Given the description of an element on the screen output the (x, y) to click on. 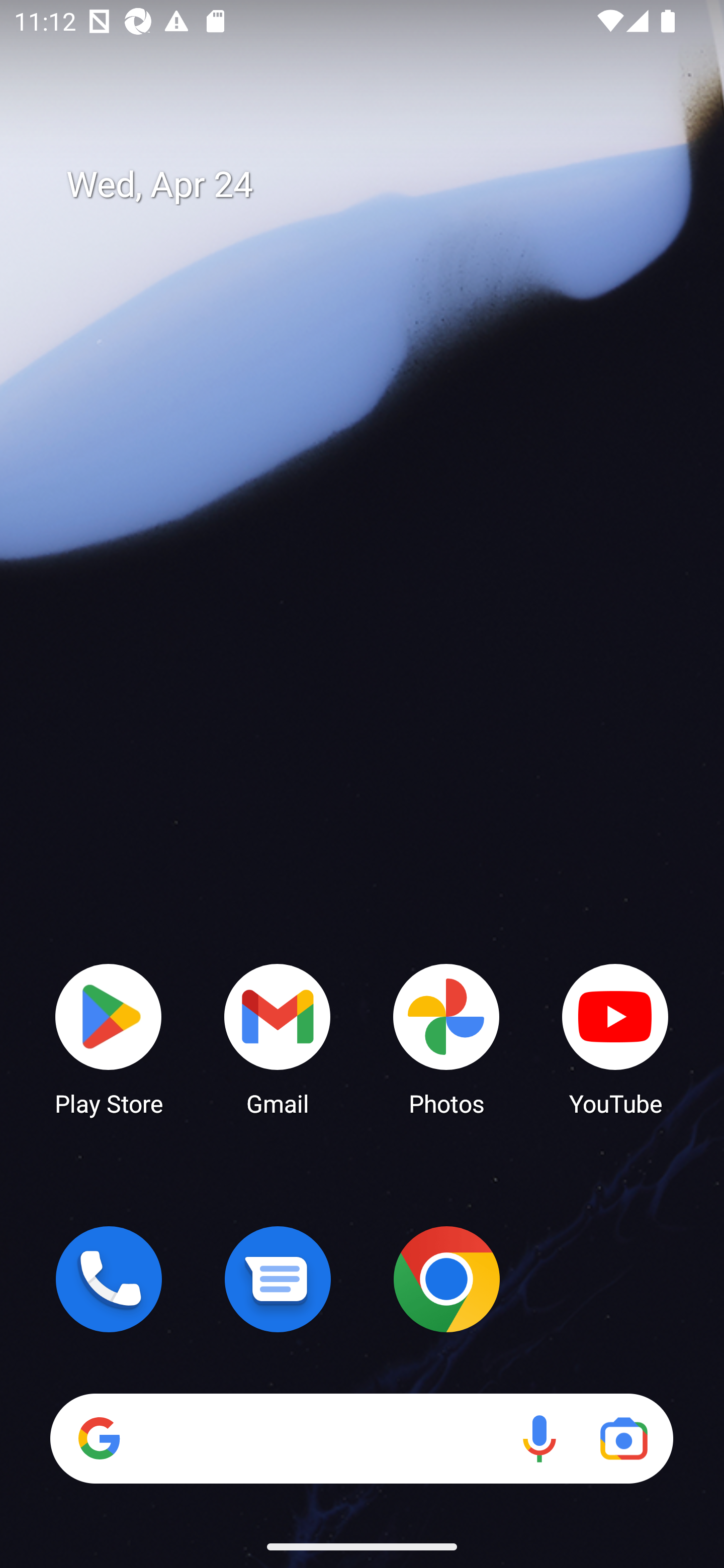
Wed, Apr 24 (375, 184)
Play Store (108, 1038)
Gmail (277, 1038)
Photos (445, 1038)
YouTube (615, 1038)
Phone (108, 1279)
Messages (277, 1279)
Chrome (446, 1279)
Search Voice search Google Lens (361, 1438)
Voice search (539, 1438)
Google Lens (623, 1438)
